Given the description of an element on the screen output the (x, y) to click on. 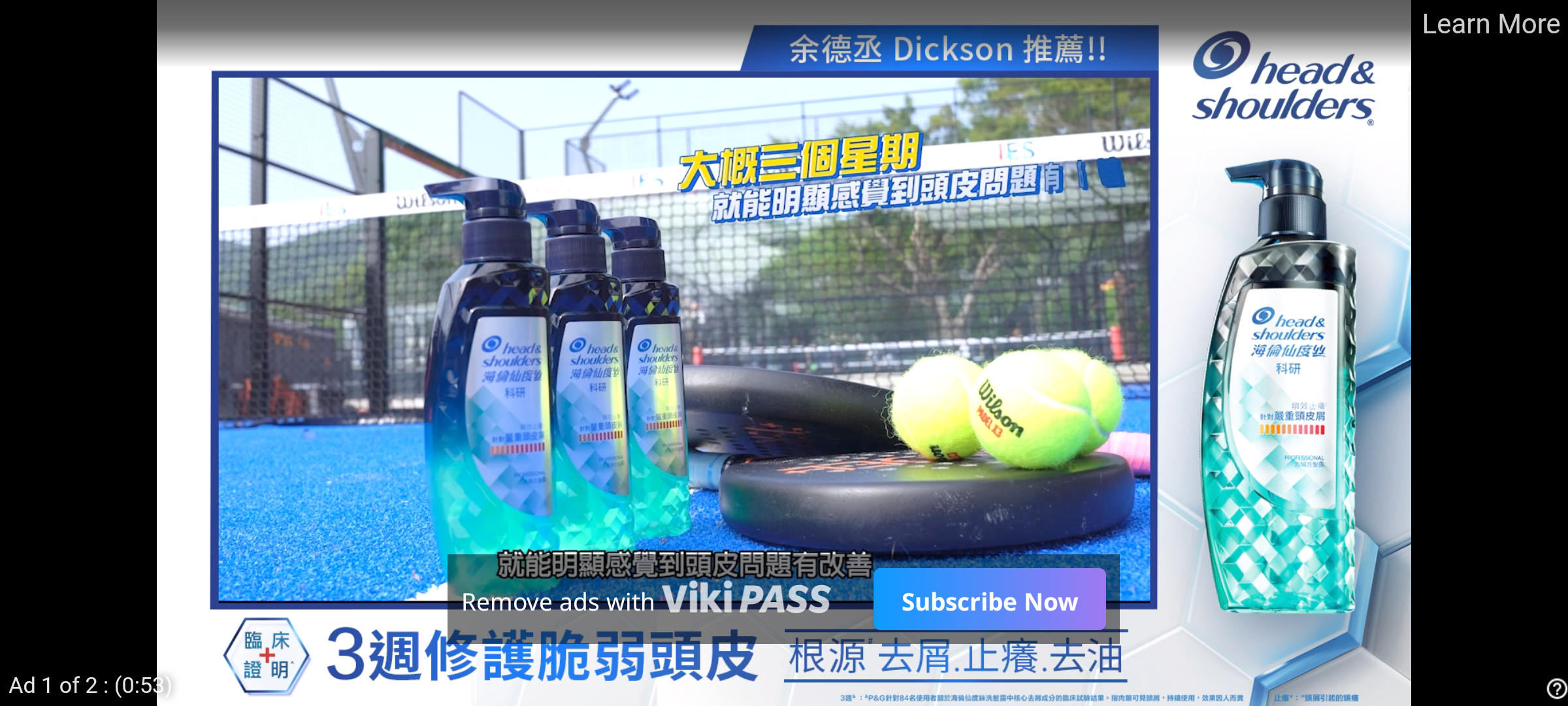
Learn More (1490, 24)
Subscribe Now (989, 599)
Ad 1 of 2 : (0:53) (90, 684)
help_outline_white_24dp_with_3px_trbl_padding (1553, 688)
